Given the description of an element on the screen output the (x, y) to click on. 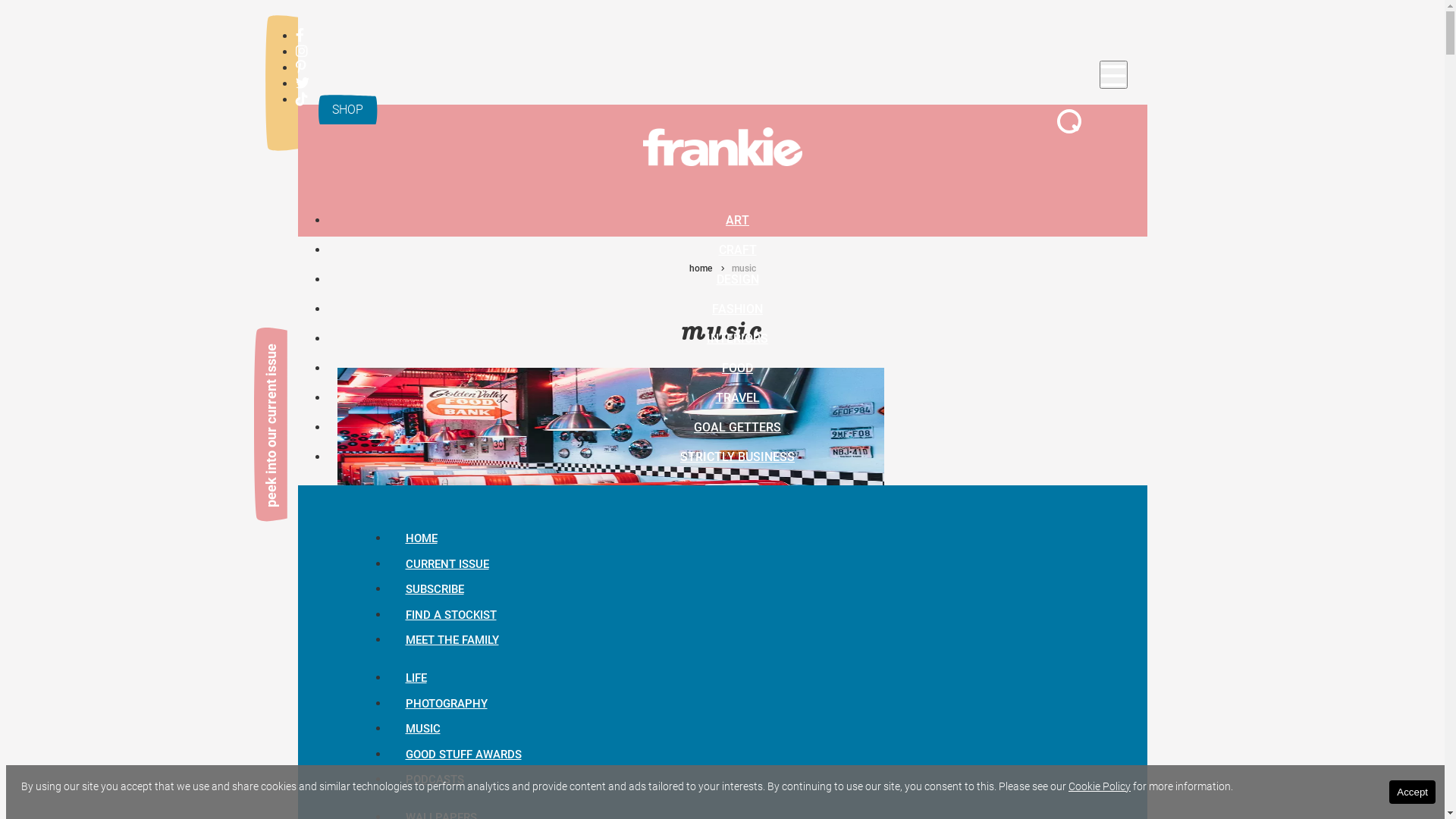
FOOD Element type: text (737, 366)
CURRENT ISSUE Element type: text (446, 563)
GOAL GETTERS Element type: text (737, 426)
FASHION Element type: text (736, 307)
SHOP Element type: text (346, 109)
ART Element type: text (737, 219)
CRAFT Element type: text (737, 248)
TRAVEL Element type: text (737, 396)
music Element type: text (743, 268)
SUBSCRIBE Element type: text (434, 588)
STRICTLY BUSINESS Element type: text (737, 455)
Accept Element type: text (1412, 791)
music Element type: text (365, 579)
DESIGN Element type: text (736, 278)
GOOD STUFF AWARDS Element type: text (462, 754)
INTERIORS Element type: text (737, 337)
HOME Element type: text (420, 538)
PHOTOGRAPHY Element type: text (445, 703)
Cookie Policy Element type: text (1099, 786)
FIND A STOCKIST Element type: text (450, 614)
home Element type: text (699, 268)
MEET THE FAMILY Element type: text (451, 640)
PODCASTS Element type: text (434, 779)
MUSIC Element type: text (422, 728)
LIFE Element type: text (415, 677)
